Given the description of an element on the screen output the (x, y) to click on. 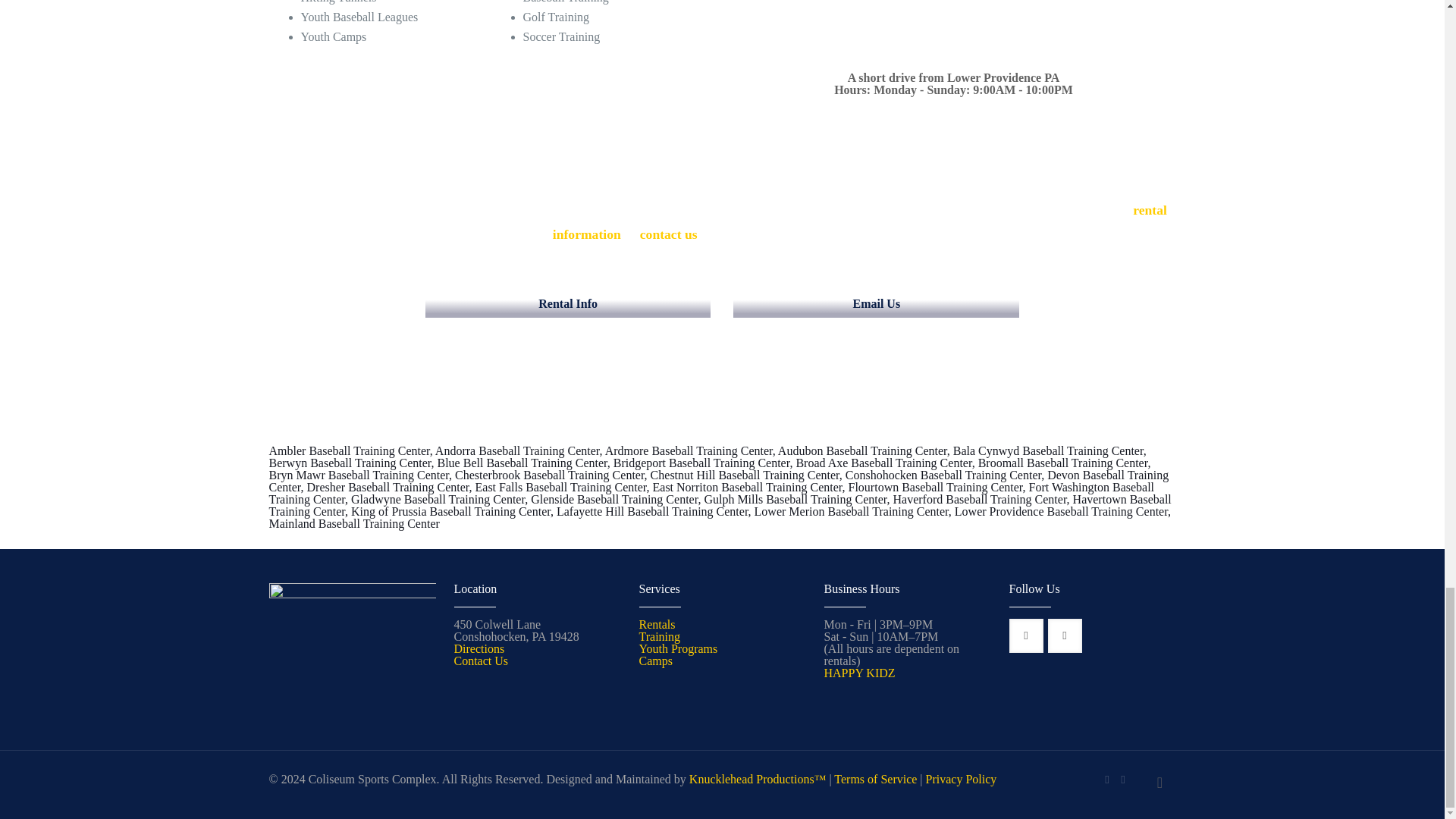
Ambler Baseball Training Center (348, 450)
Andorra Baseball Training Center (517, 450)
Email Us (876, 304)
rental information (860, 221)
Rental Info (568, 304)
contact us (668, 233)
